Given the description of an element on the screen output the (x, y) to click on. 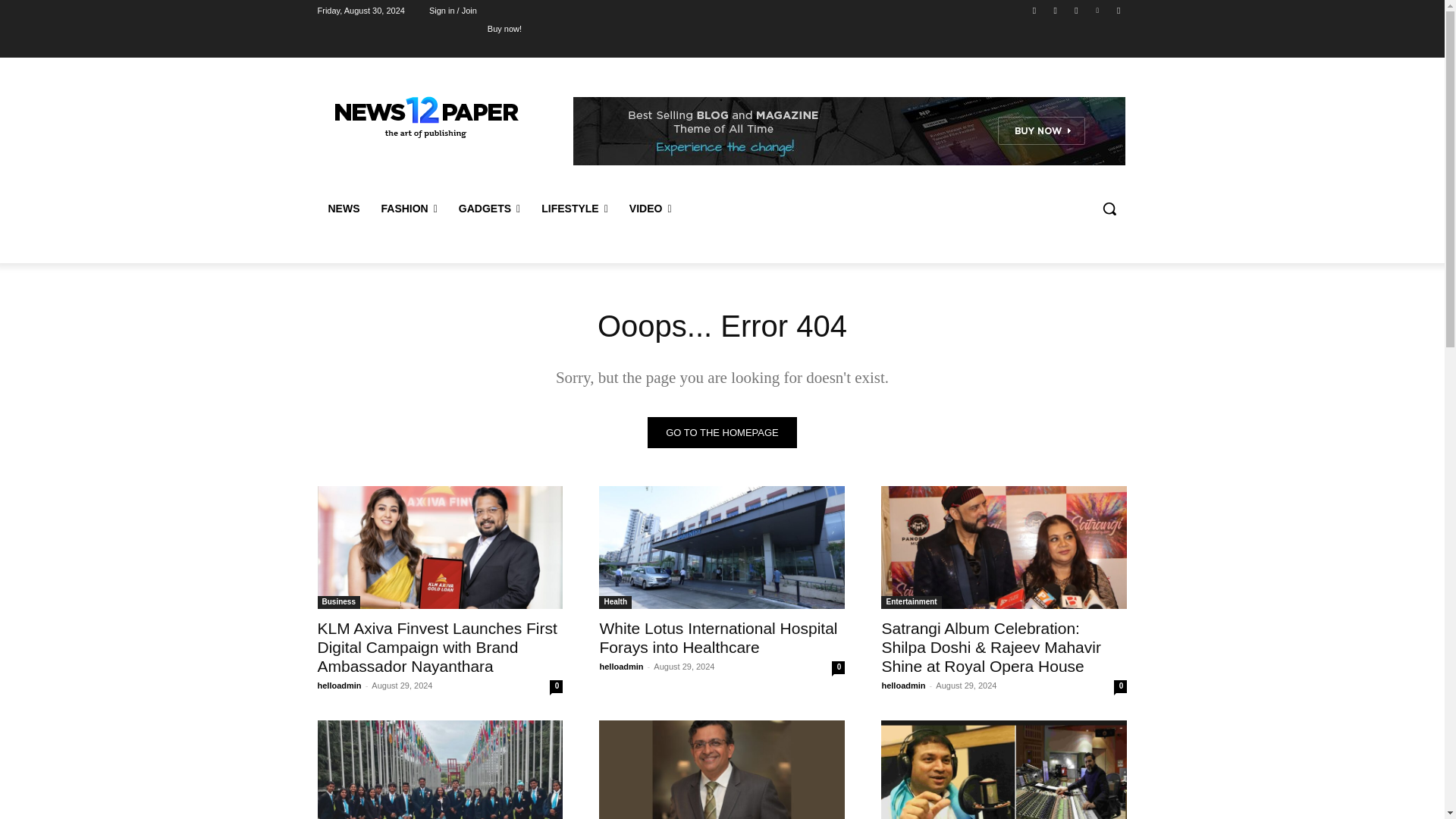
Youtube (1117, 9)
Facebook (1034, 9)
Instagram (1055, 9)
Buy now! (504, 28)
NEWS (343, 208)
Vimeo (1097, 9)
Twitter (1075, 9)
FASHION (407, 208)
